Given the description of an element on the screen output the (x, y) to click on. 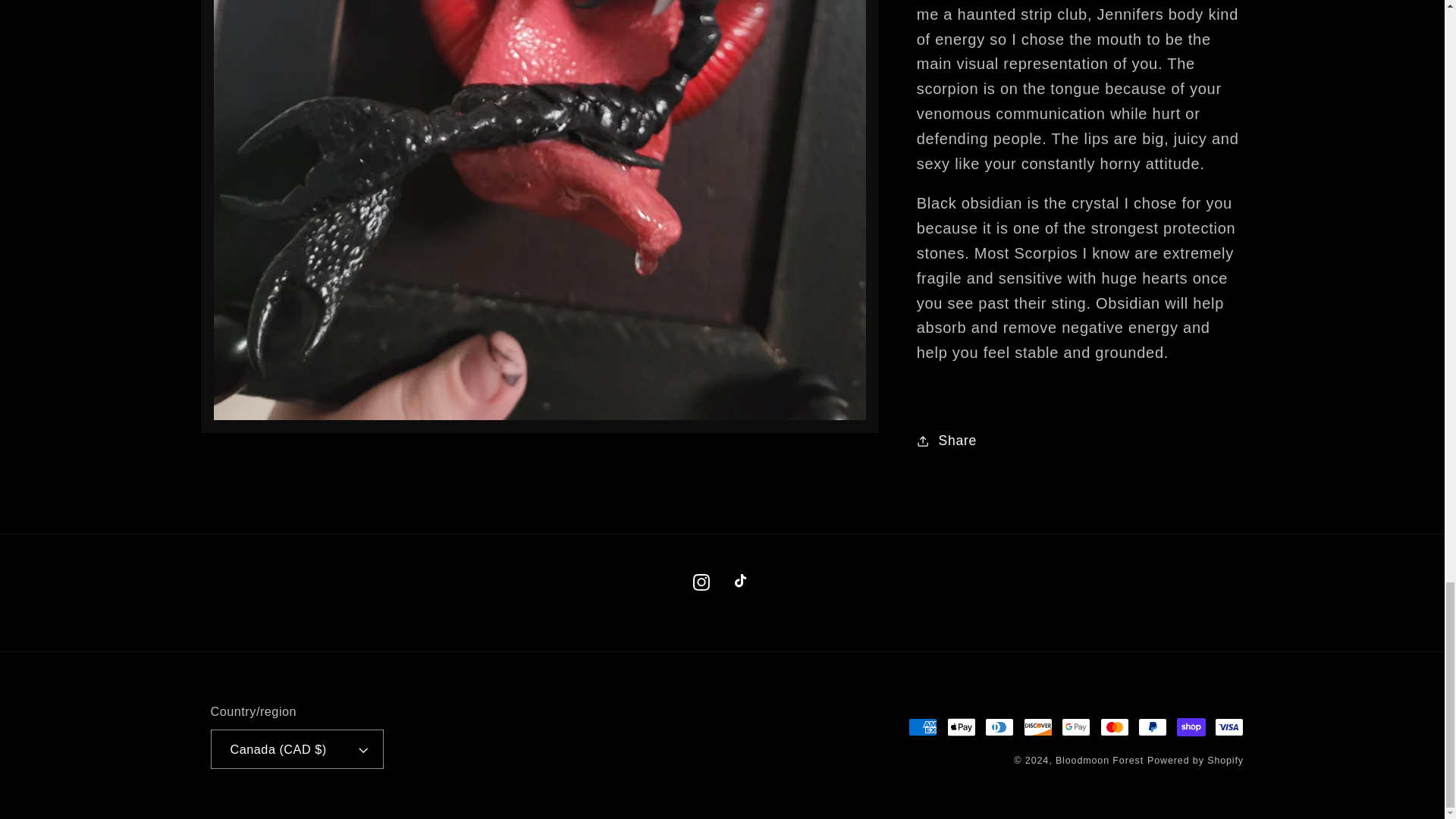
TikTok (742, 582)
Powered by Shopify (1195, 760)
Instagram (701, 582)
Bloodmoon Forest (1098, 760)
